Given the description of an element on the screen output the (x, y) to click on. 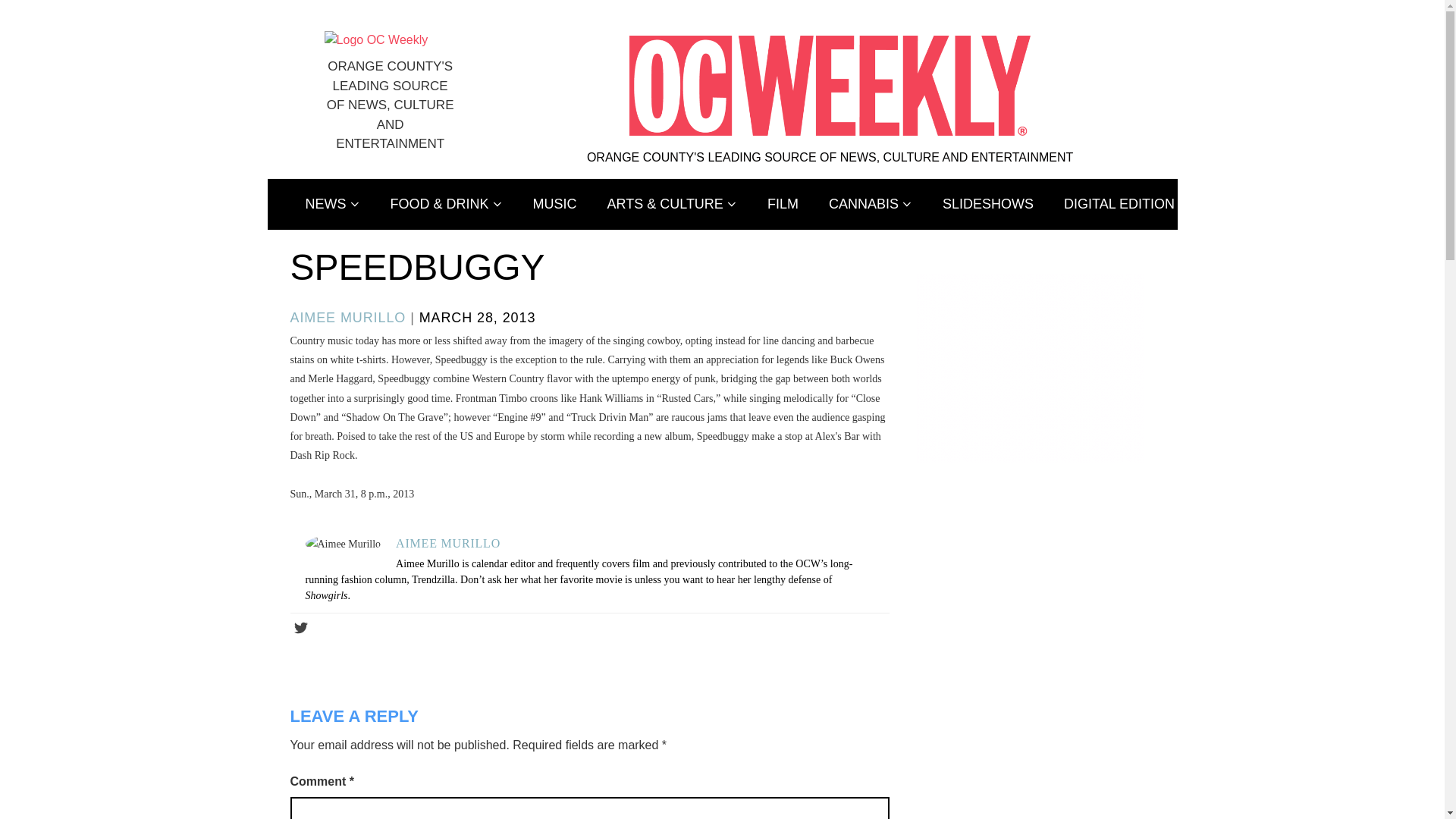
MUSIC (555, 204)
CANNABIS (870, 204)
OC Weekly (376, 39)
News (331, 204)
NEWS (331, 204)
FILM (782, 204)
